Given the description of an element on the screen output the (x, y) to click on. 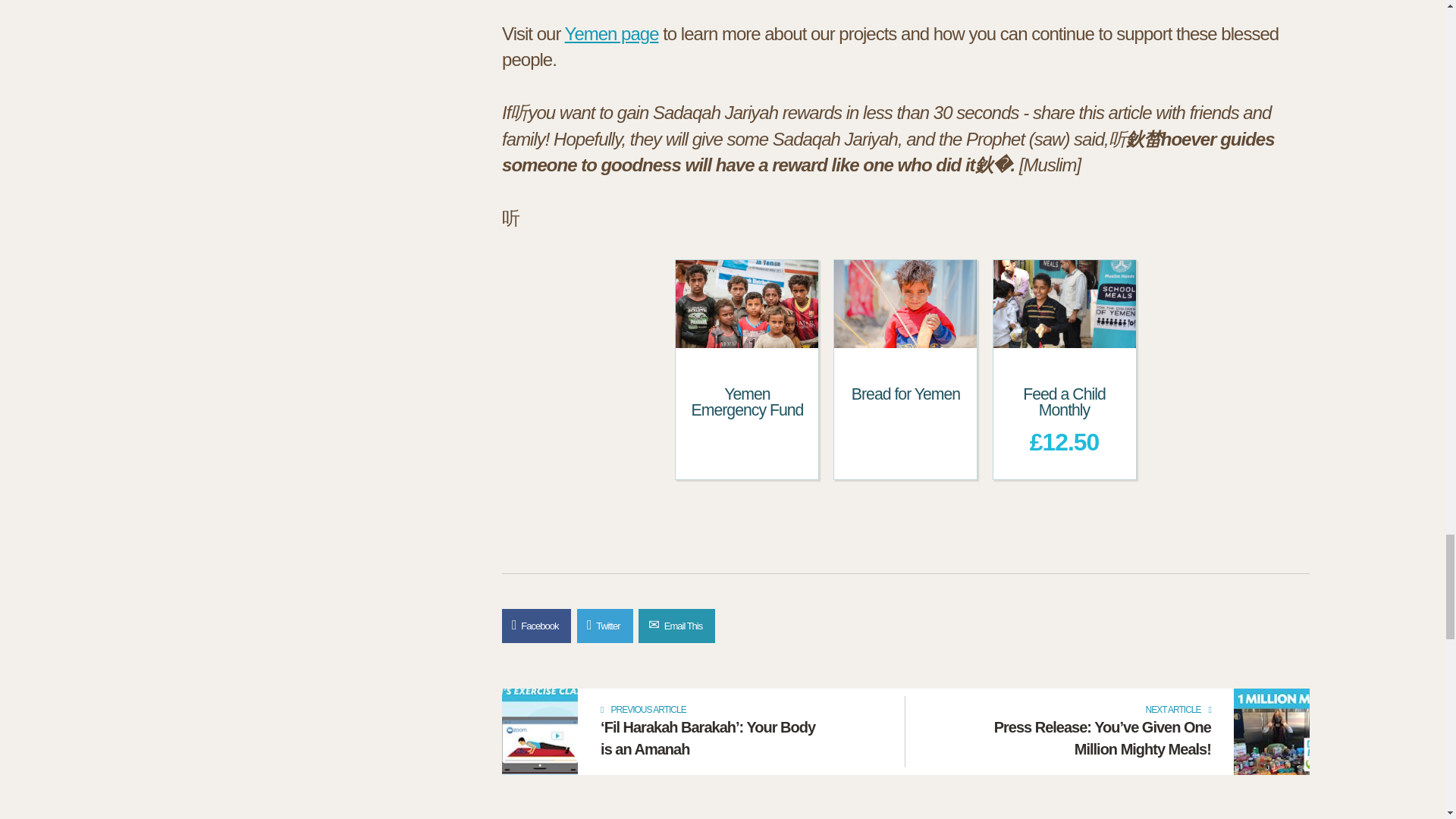
PREVIOUS ARTICLE (712, 709)
Yemen page (611, 33)
NEXT ARTICLE (1099, 709)
Yemen Emergency Fund (747, 401)
Feed a Child Monthly (1064, 401)
Bread for Yemen (905, 393)
Yemen Emergency Appeal (611, 33)
